Given the description of an element on the screen output the (x, y) to click on. 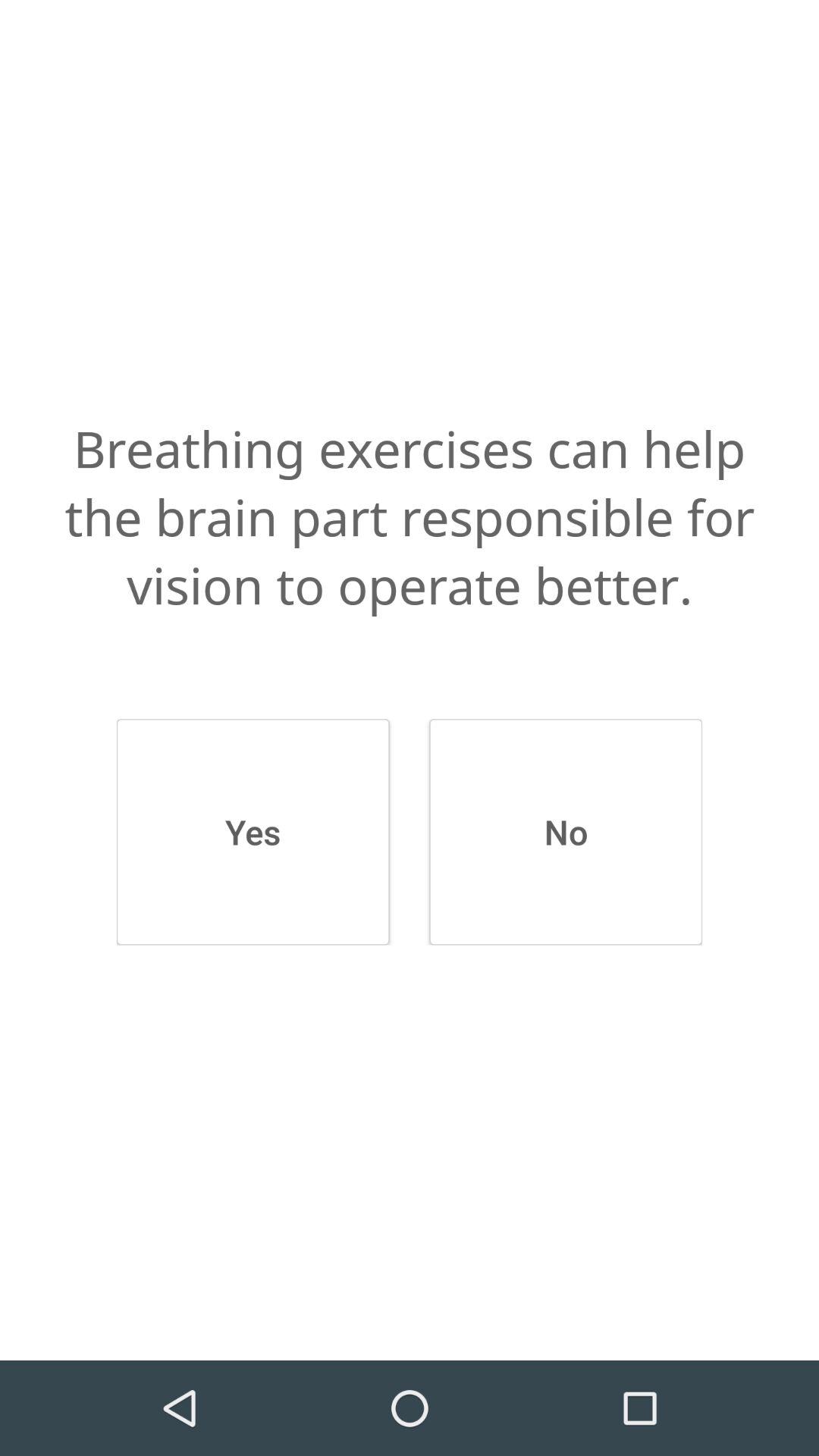
press the icon below the breathing exercises can item (565, 831)
